Given the description of an element on the screen output the (x, y) to click on. 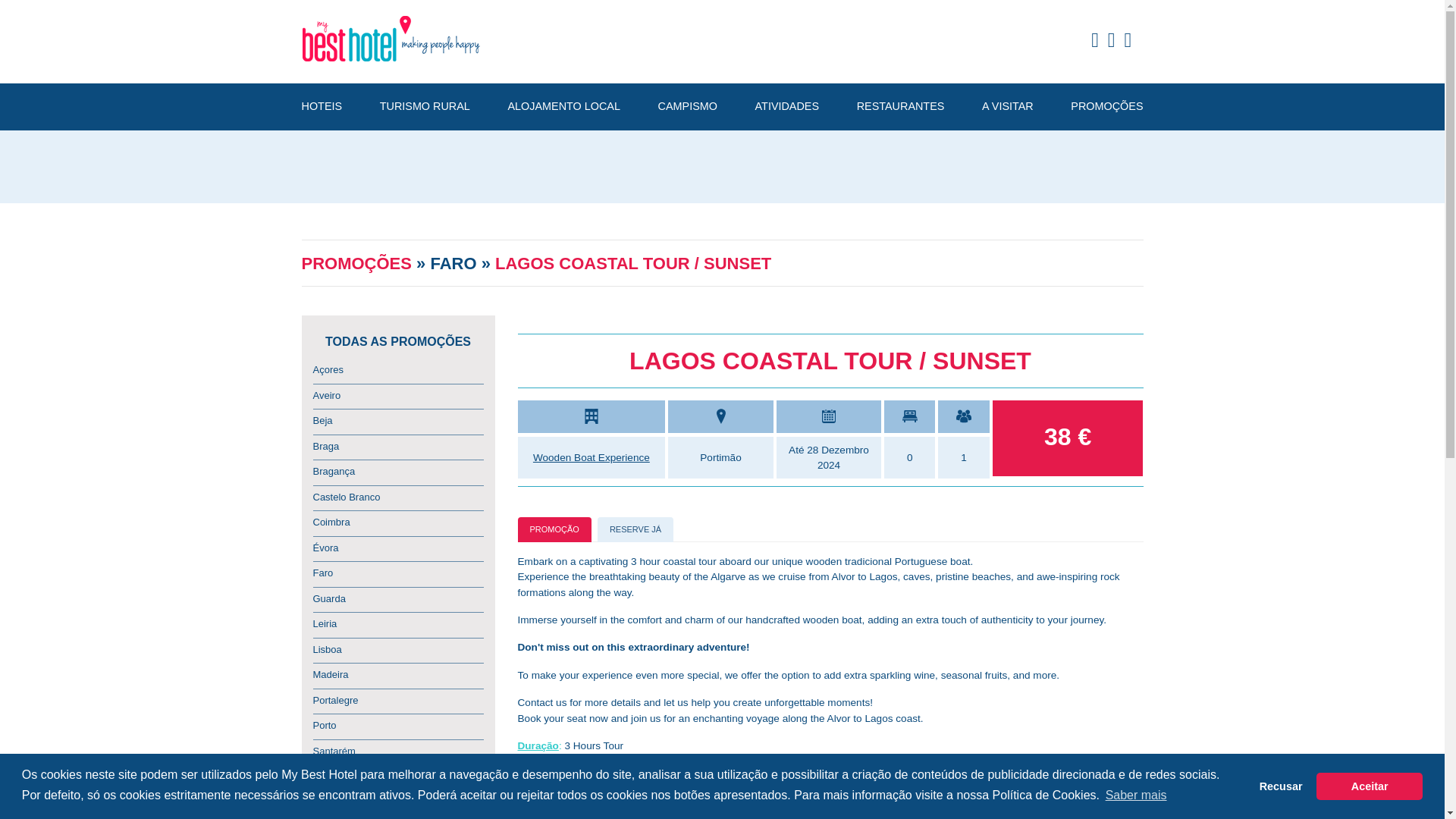
HOTEIS (321, 106)
ATIVIDADES (787, 106)
Recusar (1280, 786)
RESTAURANTES (900, 106)
Aceitar (1369, 786)
ALOJAMENTO LOCAL (563, 106)
CAMPISMO (687, 106)
TURISMO RURAL (425, 106)
A VISITAR (1007, 106)
Saber mais (1135, 794)
